Given the description of an element on the screen output the (x, y) to click on. 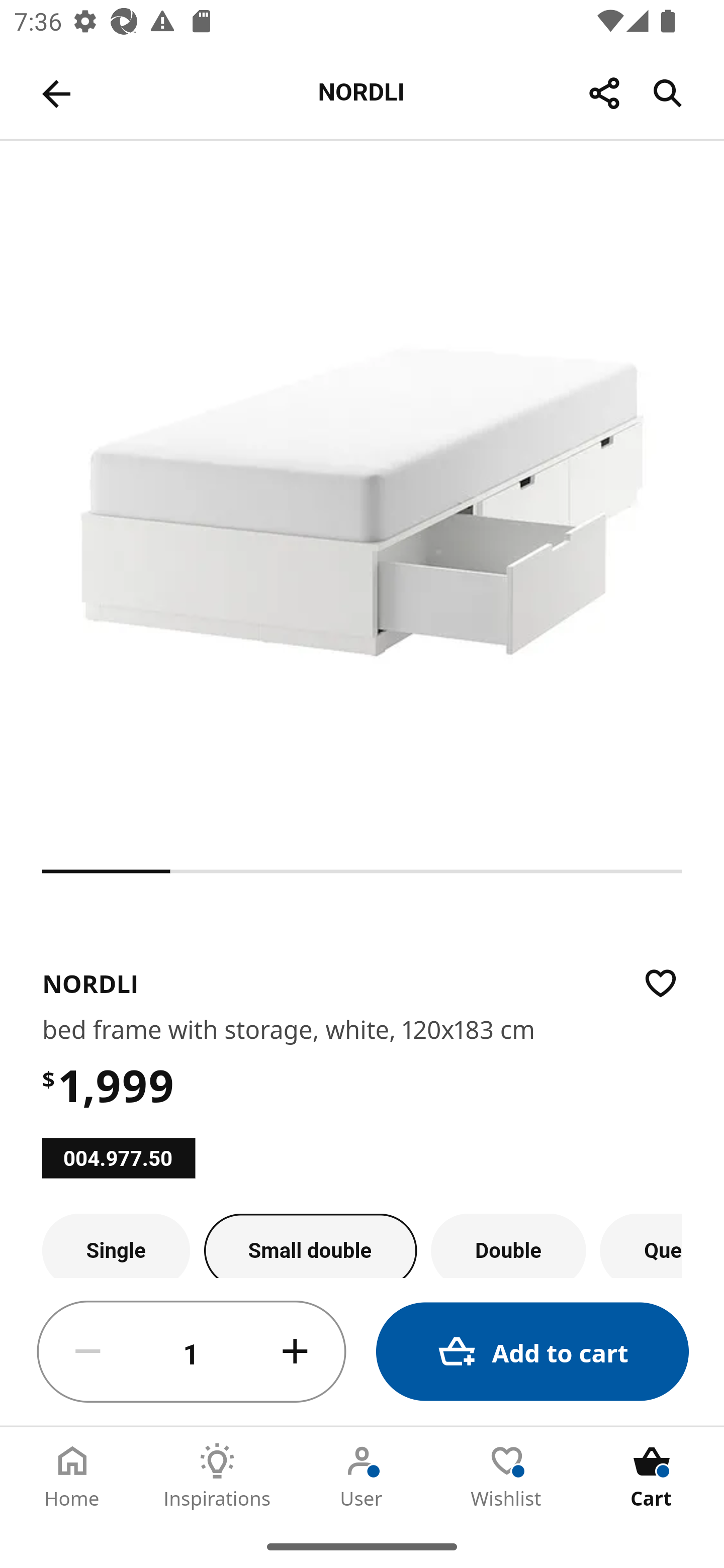
Single (115, 1245)
Small double (310, 1245)
Double (508, 1245)
Add to cart (531, 1352)
1 (191, 1352)
Home
Tab 1 of 5 (72, 1476)
Inspirations
Tab 2 of 5 (216, 1476)
User
Tab 3 of 5 (361, 1476)
Wishlist
Tab 4 of 5 (506, 1476)
Cart
Tab 5 of 5 (651, 1476)
